Given the description of an element on the screen output the (x, y) to click on. 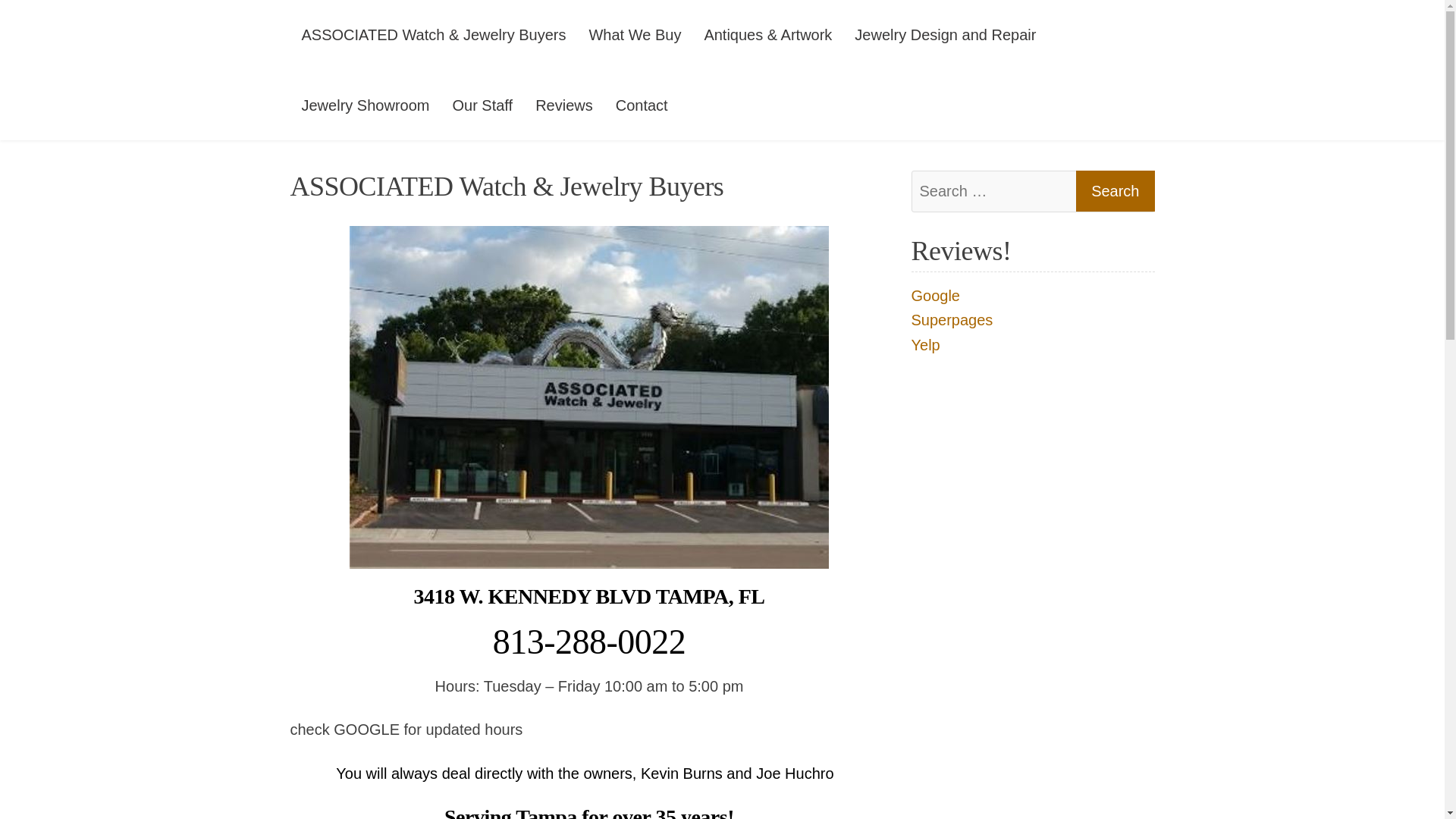
Jewelry Design and Repair (944, 35)
Search (1114, 190)
Search (1114, 190)
Read Our Superpages Reviews (951, 320)
Superpages (951, 320)
Search (1114, 190)
Reviews (564, 104)
What We Buy (634, 35)
Jewelry Showroom (365, 104)
Read Our Yelp Reviews (925, 344)
